Given the description of an element on the screen output the (x, y) to click on. 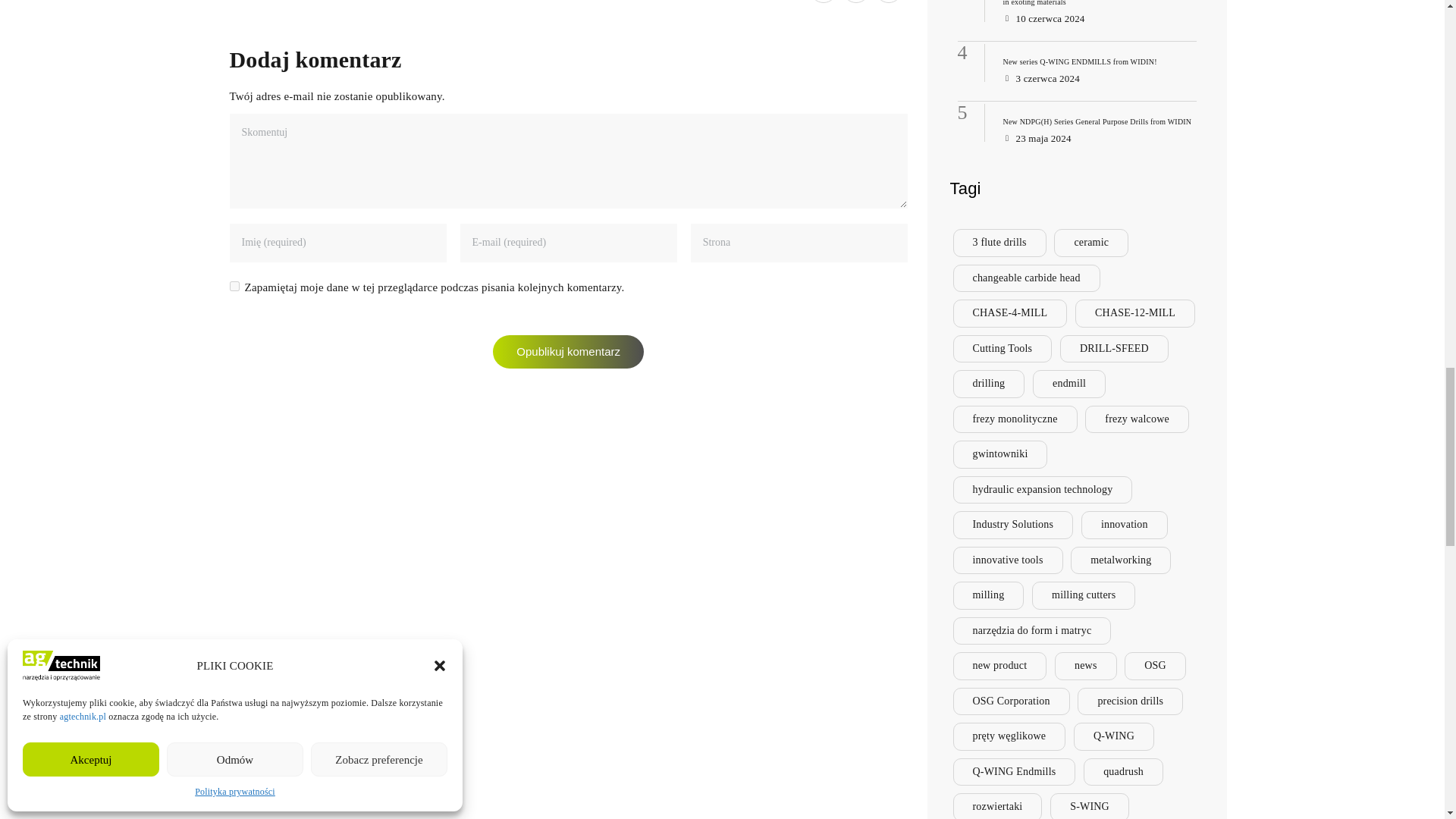
yes (233, 286)
Opublikuj komentarz (568, 351)
